Given the description of an element on the screen output the (x, y) to click on. 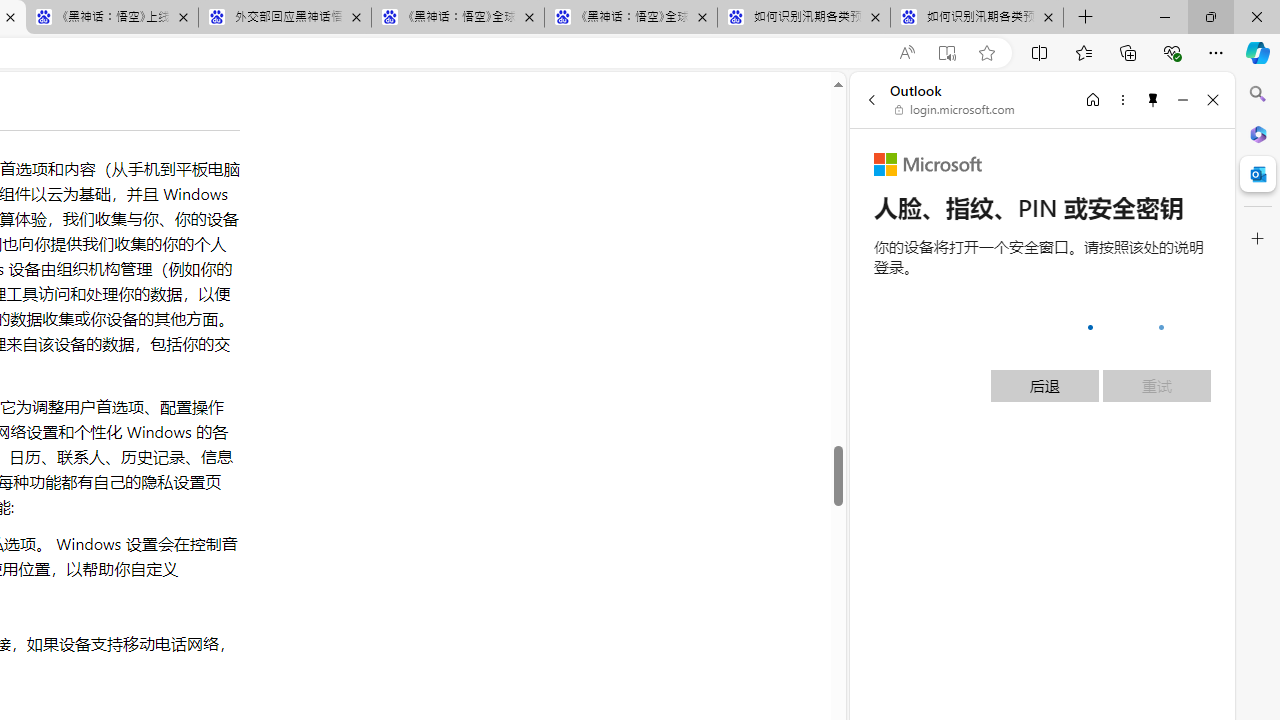
login.microsoft.com (955, 110)
